Given the description of an element on the screen output the (x, y) to click on. 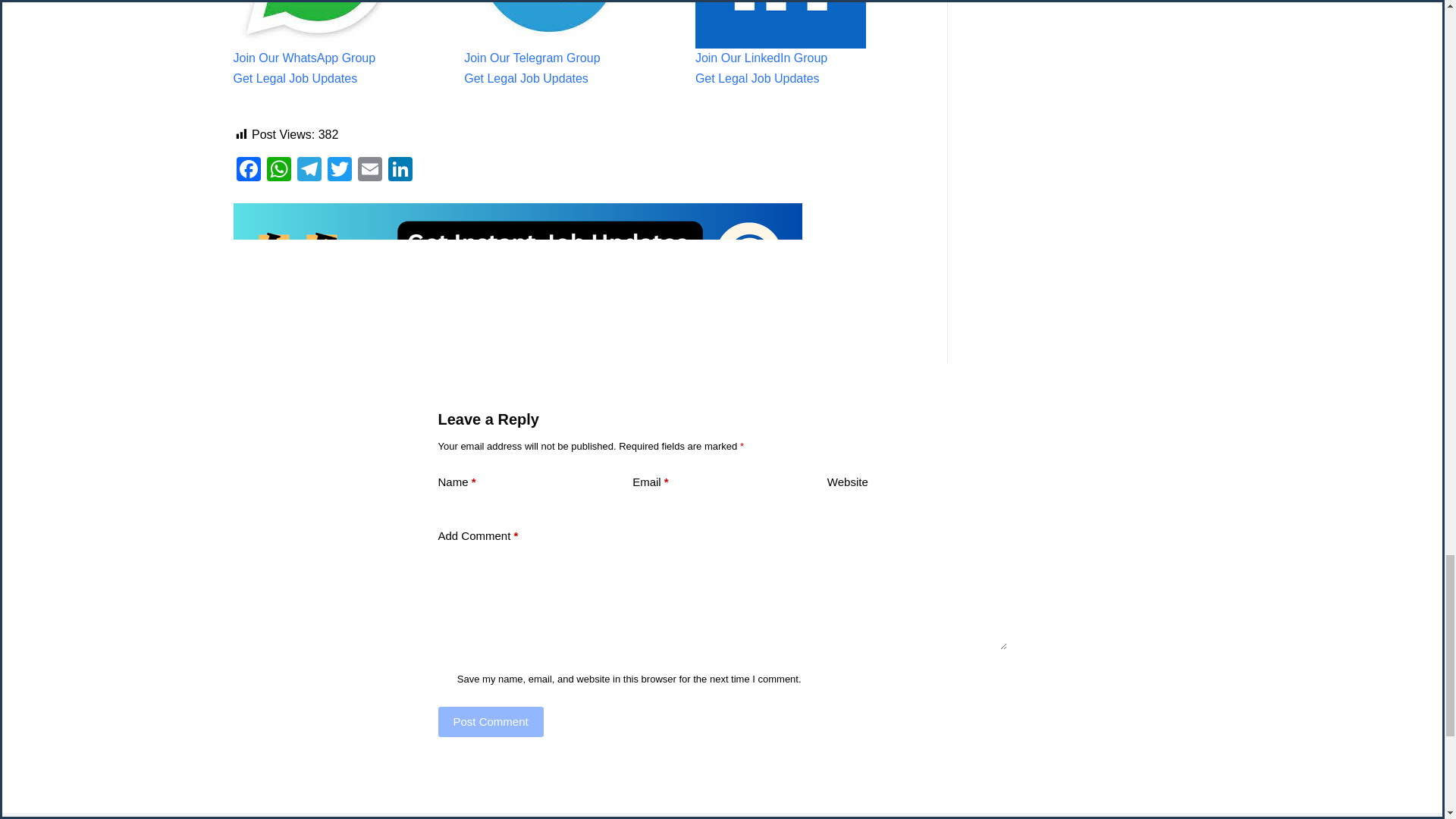
Facebook (247, 171)
Email (370, 171)
Telegram (309, 171)
LinkedIn (399, 171)
Twitter (339, 171)
yes (443, 678)
WhatsApp (278, 171)
